Given the description of an element on the screen output the (x, y) to click on. 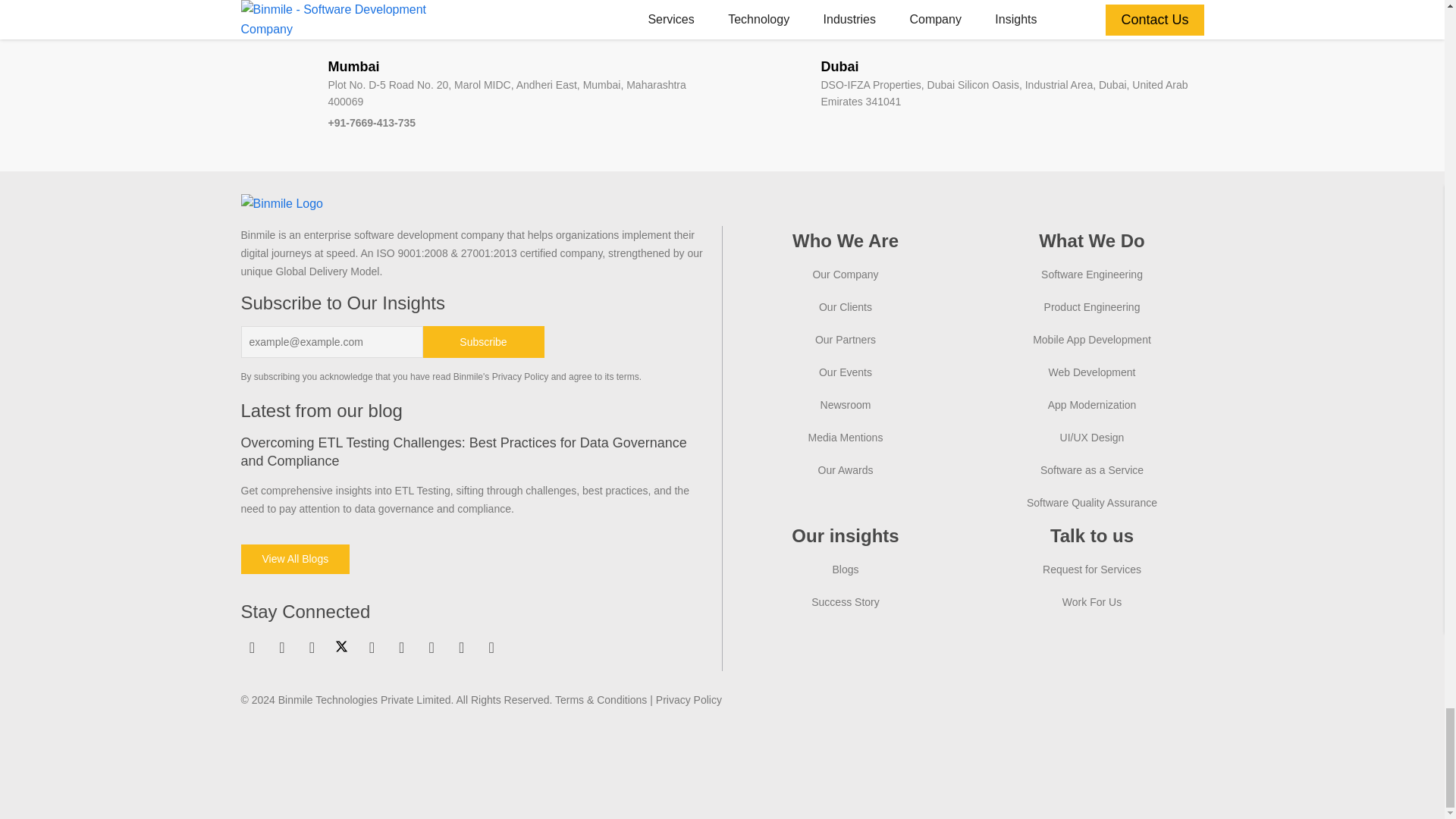
Pinterest (401, 647)
LinkedIn (252, 647)
Facebook (282, 647)
Subscribe (483, 341)
Instagram (311, 647)
Binmile (282, 203)
Twitter (341, 645)
YouTube (370, 647)
